Given the description of an element on the screen output the (x, y) to click on. 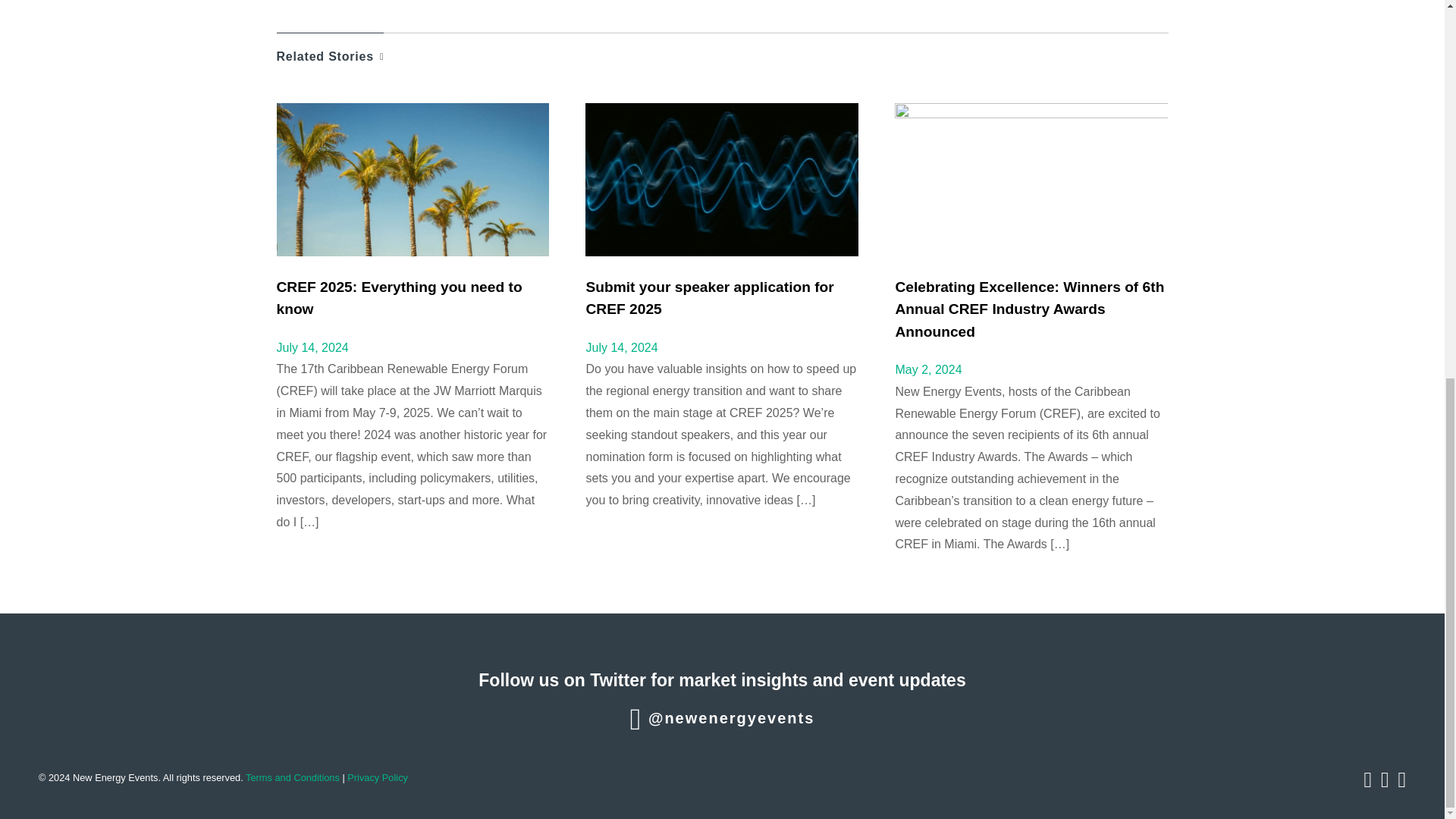
Submit your speaker application for CREF 2025 (708, 297)
Privacy Policy (377, 777)
Terms and Conditions (292, 777)
Related Stories (330, 48)
CREF 2025: Everything you need to know (398, 297)
